Given the description of an element on the screen output the (x, y) to click on. 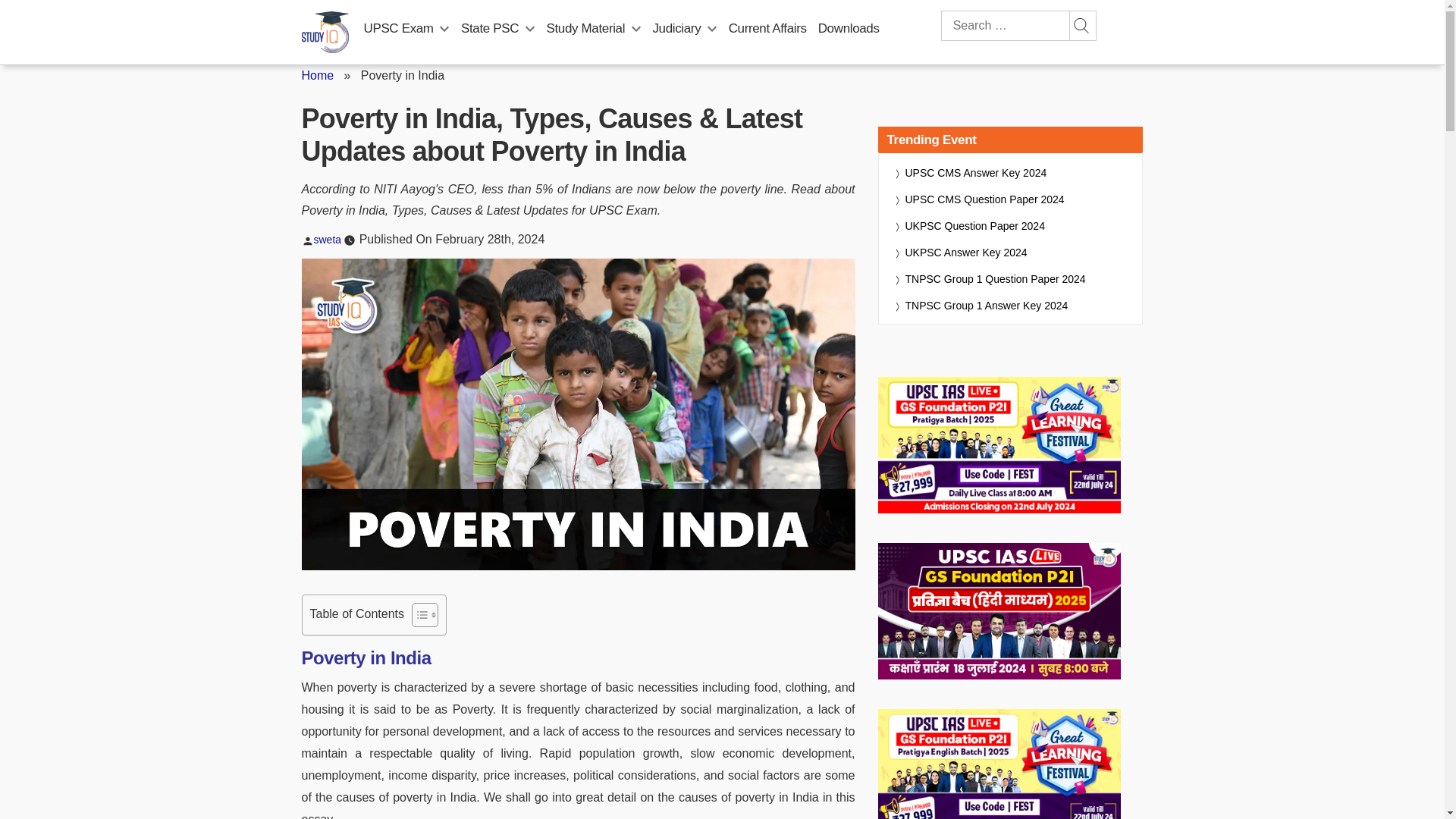
Search (1080, 25)
Search (1080, 25)
UPSC Exam (398, 28)
